Given the description of an element on the screen output the (x, y) to click on. 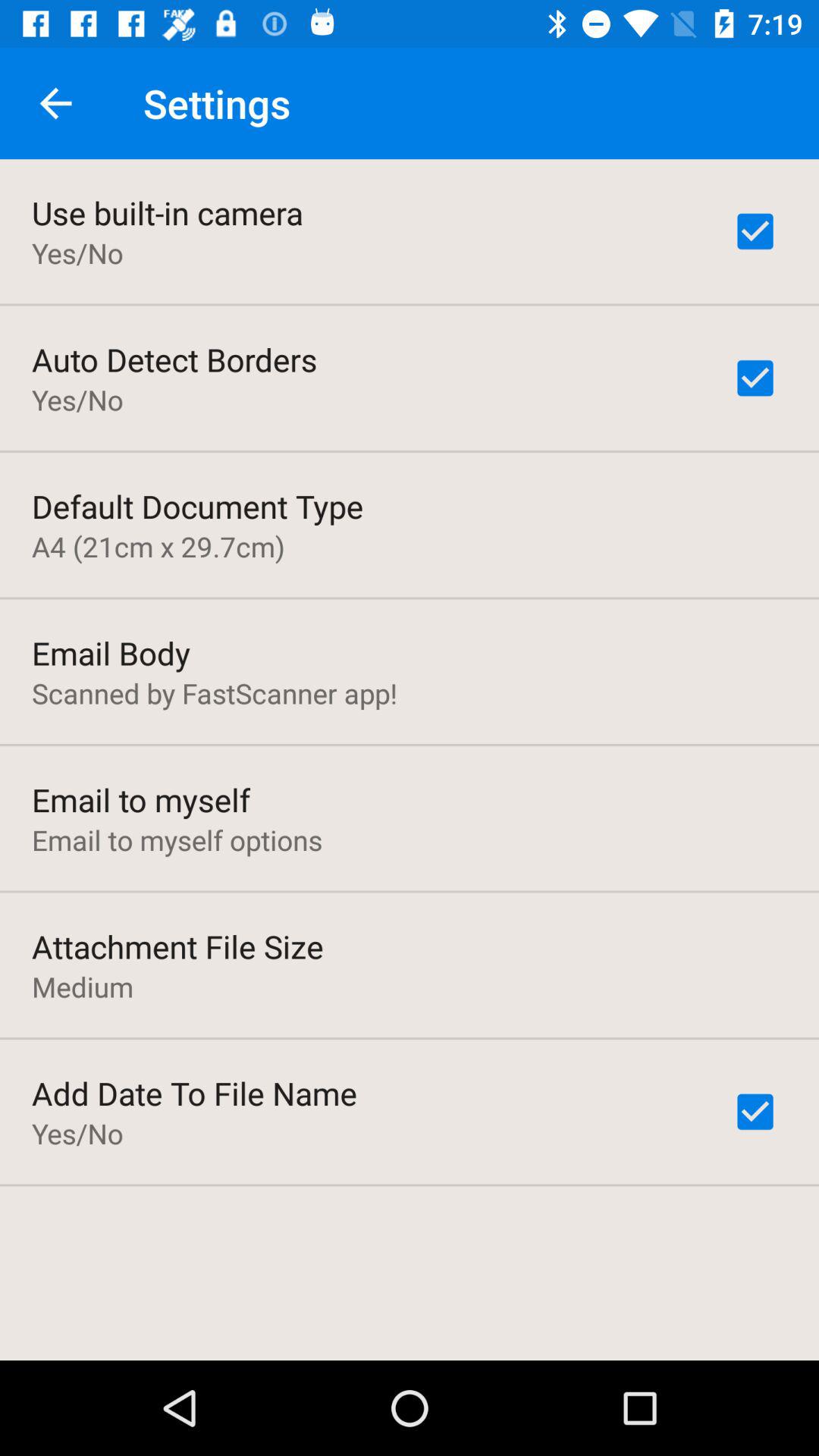
flip until email body (110, 652)
